Given the description of an element on the screen output the (x, y) to click on. 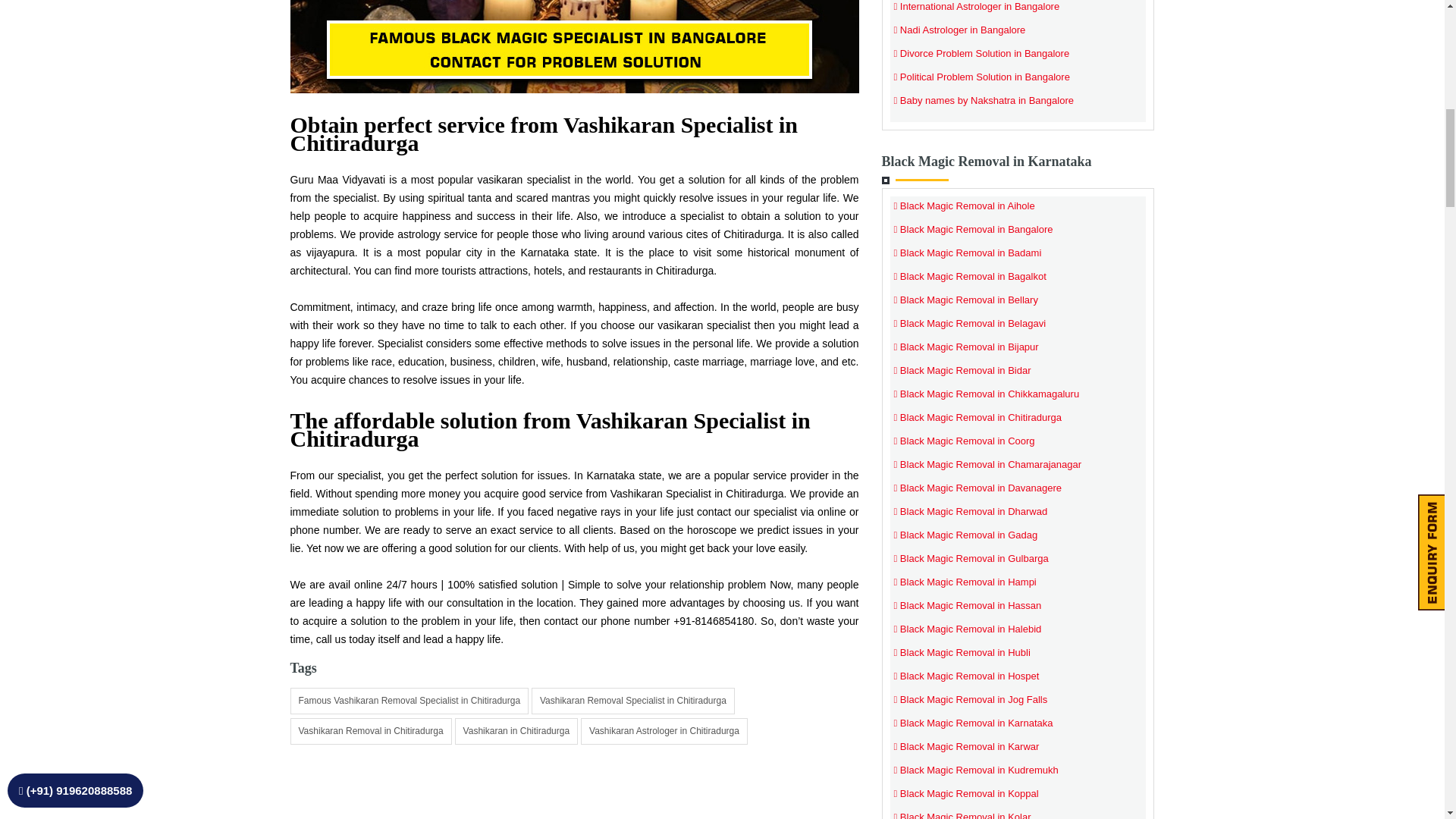
Vashikaran Removal Specialist in Chitiradurga (633, 700)
Famous Vashikaran Removal Specialist in Chitiradurga (408, 700)
